Given the description of an element on the screen output the (x, y) to click on. 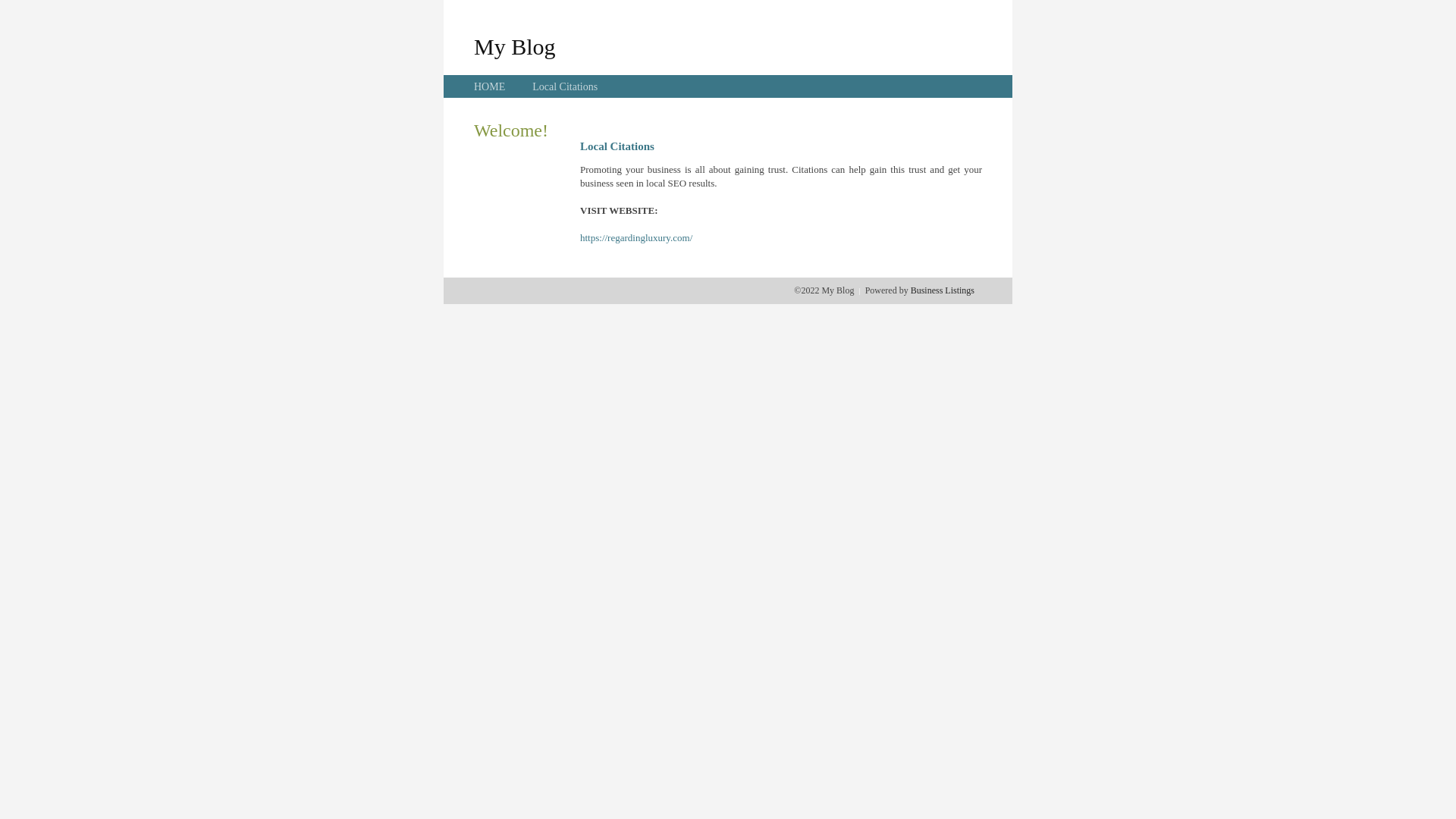
Business Listings Element type: text (942, 290)
My Blog Element type: text (514, 46)
https://regardingluxury.com/ Element type: text (636, 237)
HOME Element type: text (489, 86)
Local Citations Element type: text (564, 86)
